Given the description of an element on the screen output the (x, y) to click on. 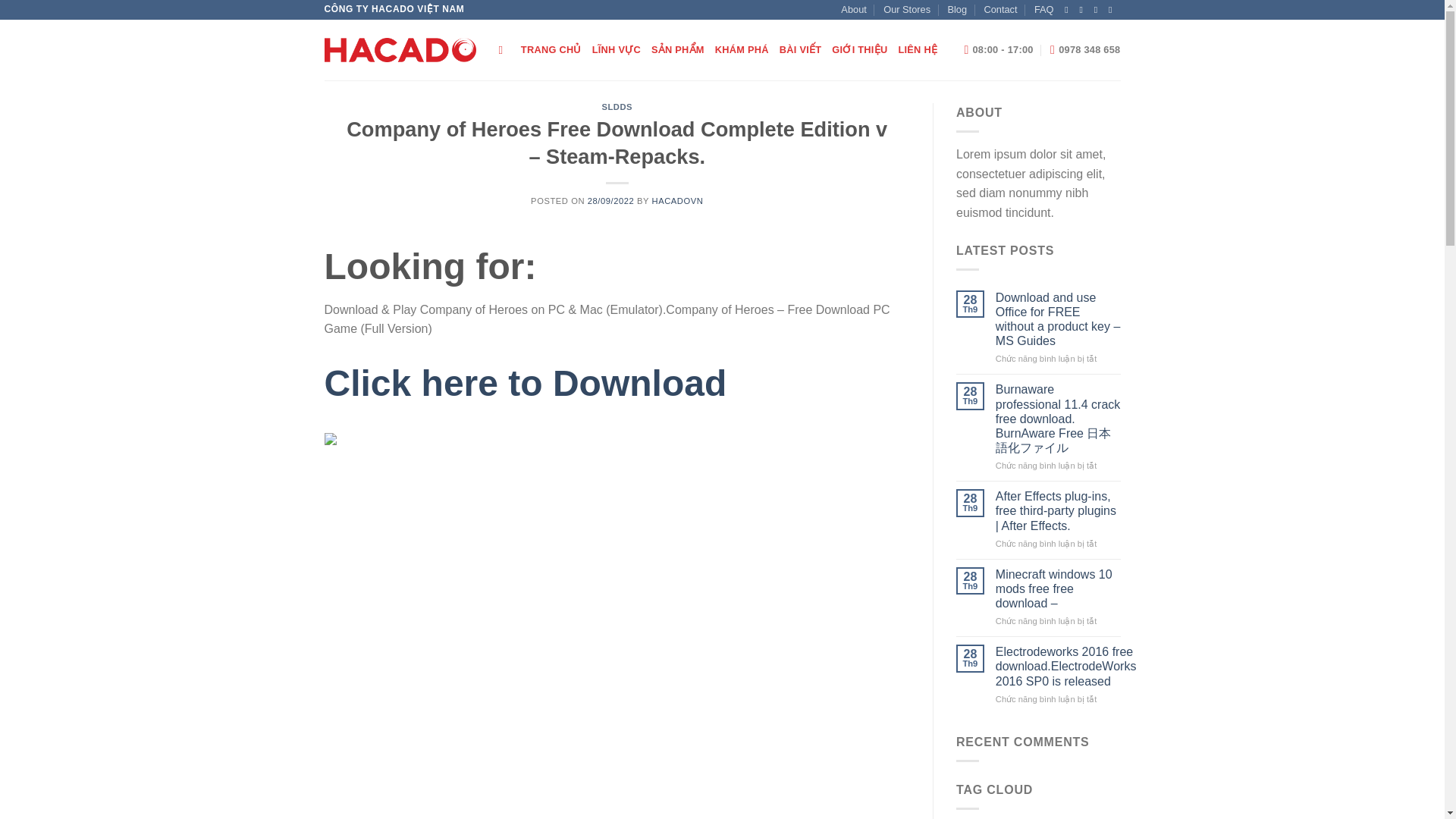
Blog (956, 9)
About (853, 9)
0978 348 658 (1084, 50)
08:00 - 17:00 (997, 50)
Our Stores (906, 9)
HACADOVN (677, 200)
SLDDS (616, 106)
Click here to Download (525, 391)
FAQ (1043, 9)
Contact (1000, 9)
